Given the description of an element on the screen output the (x, y) to click on. 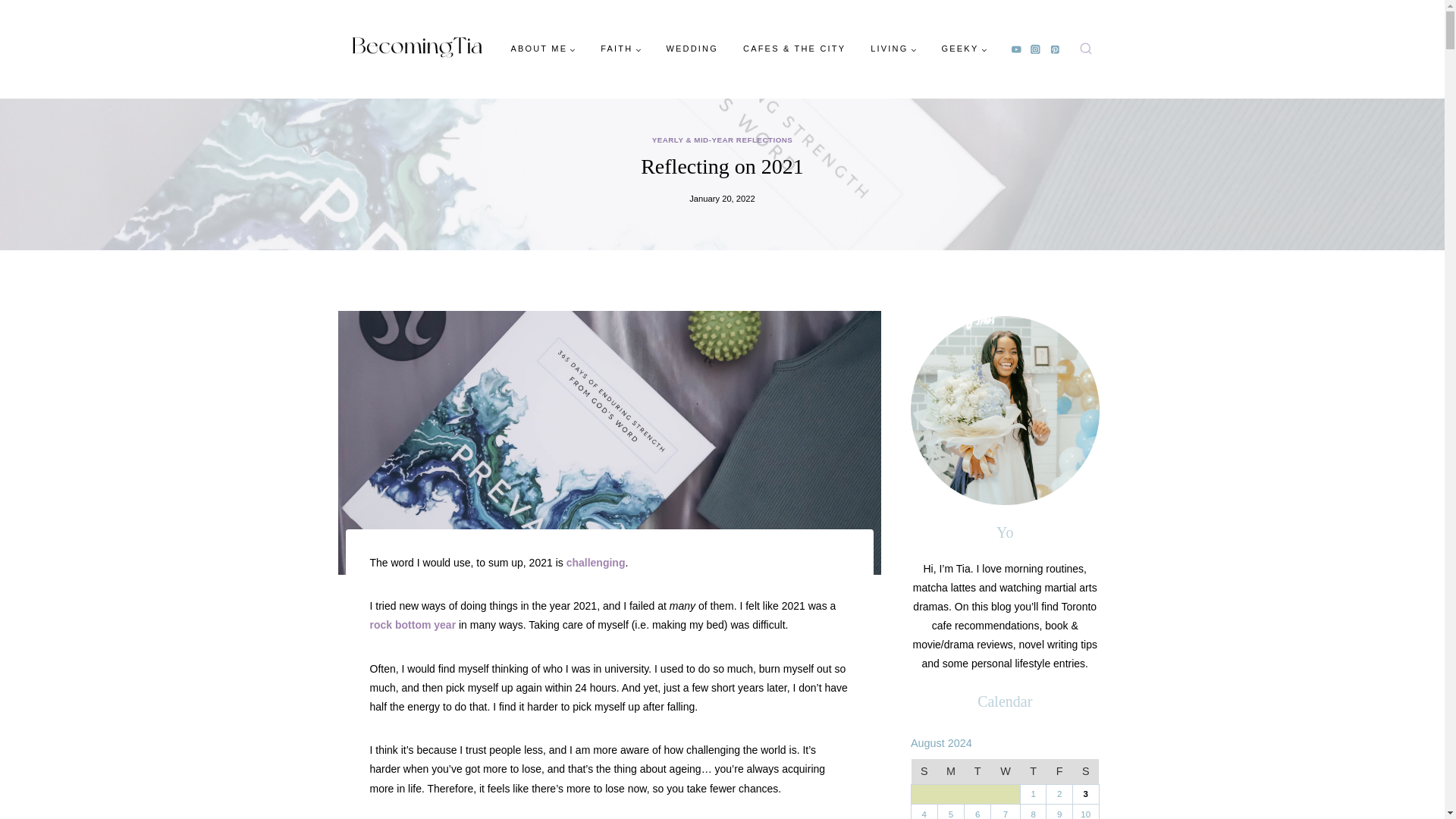
ABOUT ME (542, 48)
WEDDING (691, 48)
LIVING (893, 48)
GEEKY (963, 48)
FAITH (620, 48)
